Given the description of an element on the screen output the (x, y) to click on. 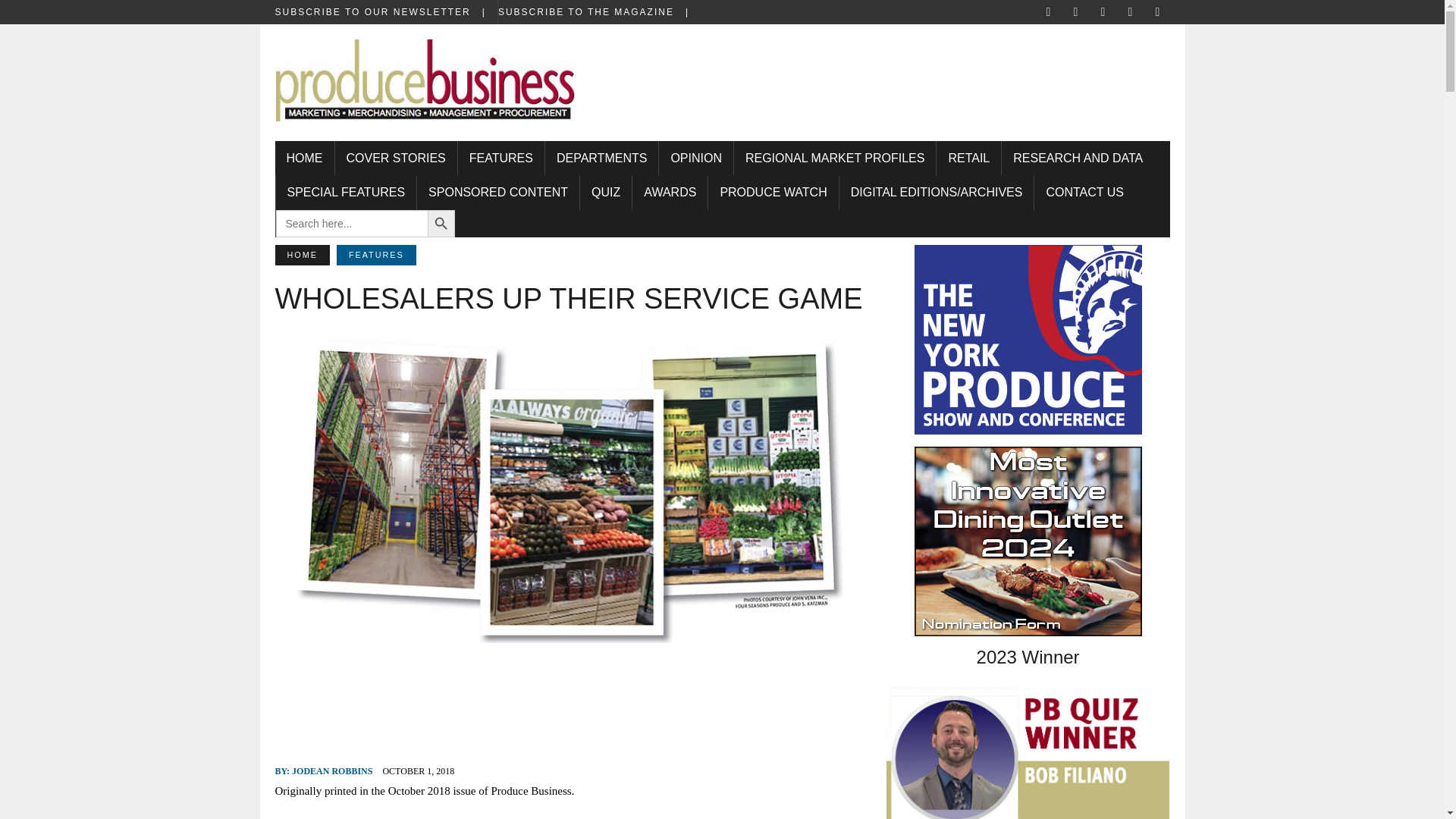
SUBSCRIBE TO OUR NEWSLETTER (385, 12)
3rd party ad content (890, 73)
3rd party ad content (569, 705)
SUBSCRIBE TO THE MAGAZINE (598, 12)
Produce Business (425, 89)
